Given the description of an element on the screen output the (x, y) to click on. 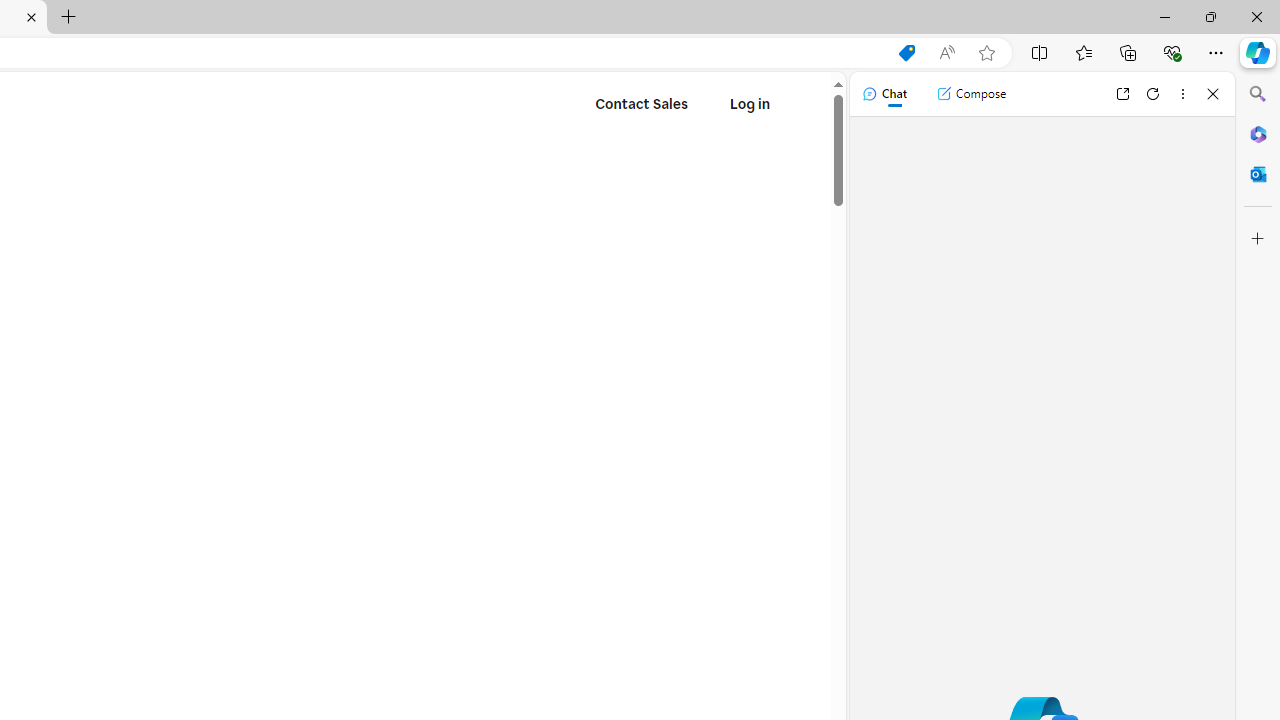
Shopping in Microsoft Edge (906, 53)
Log in (749, 103)
Open link in new tab (1122, 93)
Chat (884, 93)
Compose (971, 93)
